Given the description of an element on the screen output the (x, y) to click on. 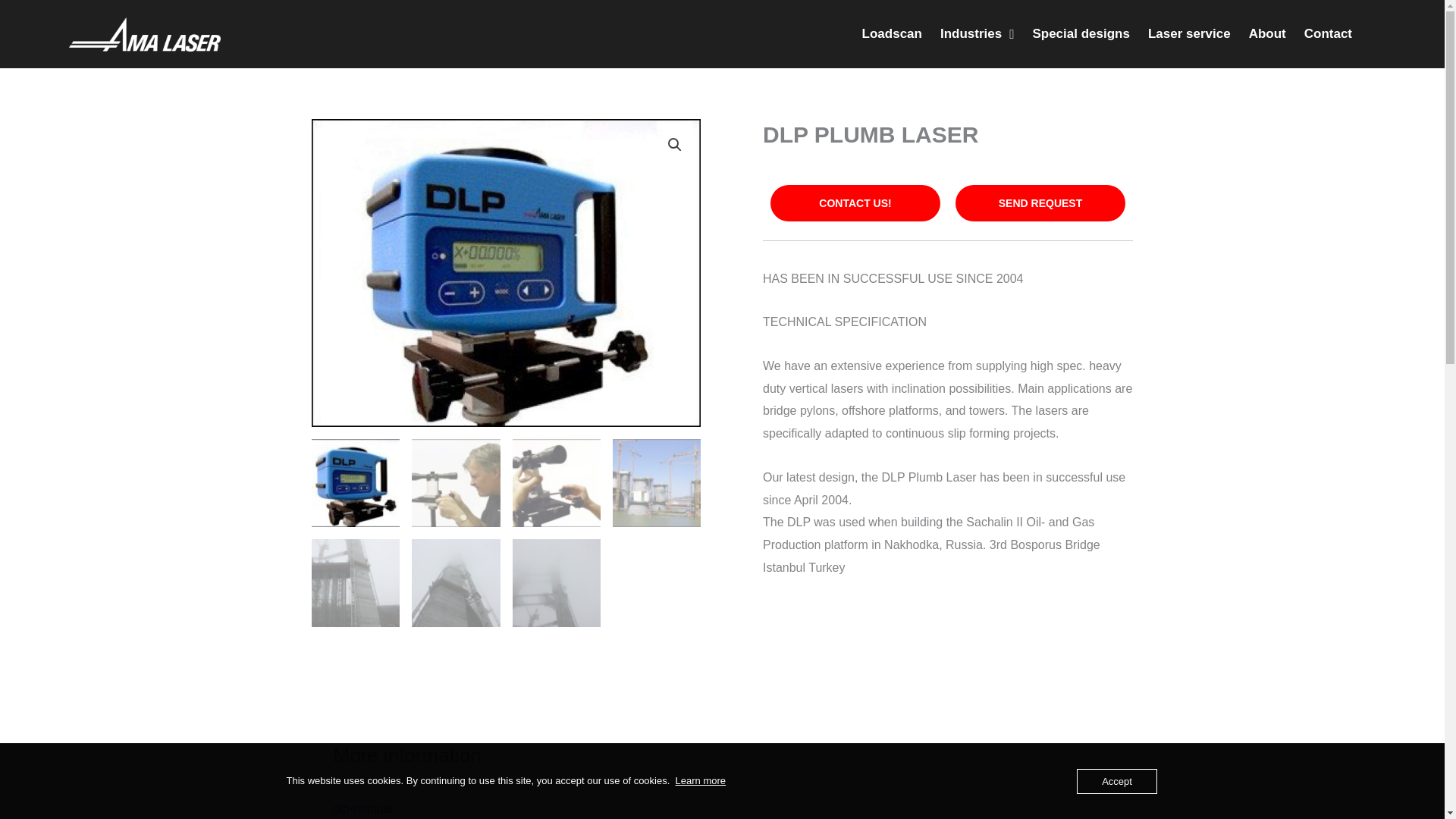
Contact (1328, 33)
phoca-thumb-l-121 (505, 272)
Industries (977, 33)
About (1267, 33)
Special designs (1080, 33)
Loadscan (892, 33)
Laser service (1189, 33)
